Given the description of an element on the screen output the (x, y) to click on. 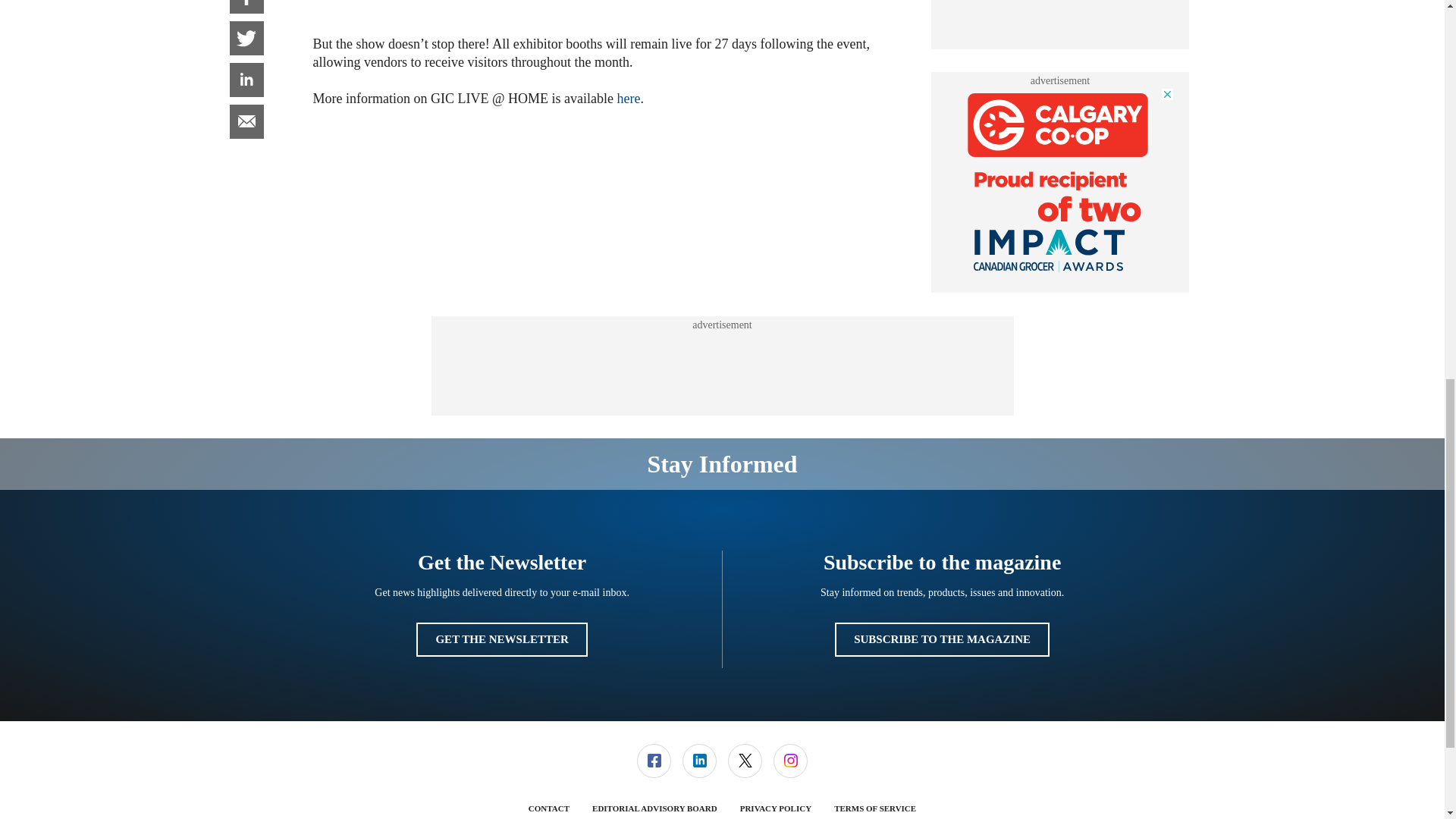
3rd party ad content (1059, 182)
3rd party ad content (1059, 17)
3rd party ad content (721, 366)
